Given the description of an element on the screen output the (x, y) to click on. 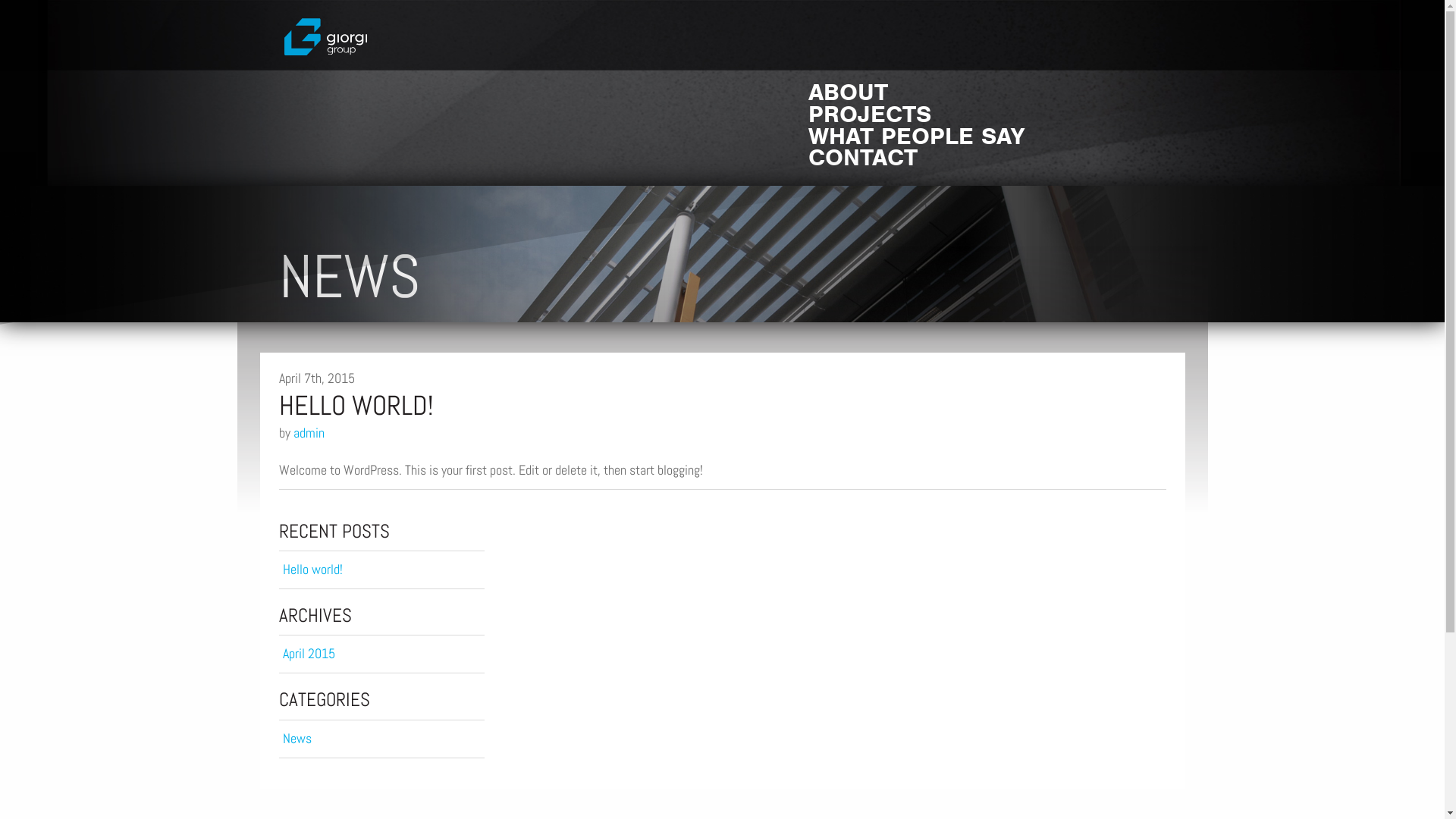
admin Element type: text (307, 432)
April 2015 Element type: text (382, 653)
CONTACT Element type: text (986, 158)
GiorgiGroup Element type: hover (330, 37)
PROJECTS Element type: text (986, 114)
ABOUT Element type: text (986, 92)
WHAT PEOPLE SAY Element type: text (986, 136)
HELLO WORLD! Element type: text (722, 415)
Hello world! Element type: text (382, 569)
News Element type: text (382, 738)
